Given the description of an element on the screen output the (x, y) to click on. 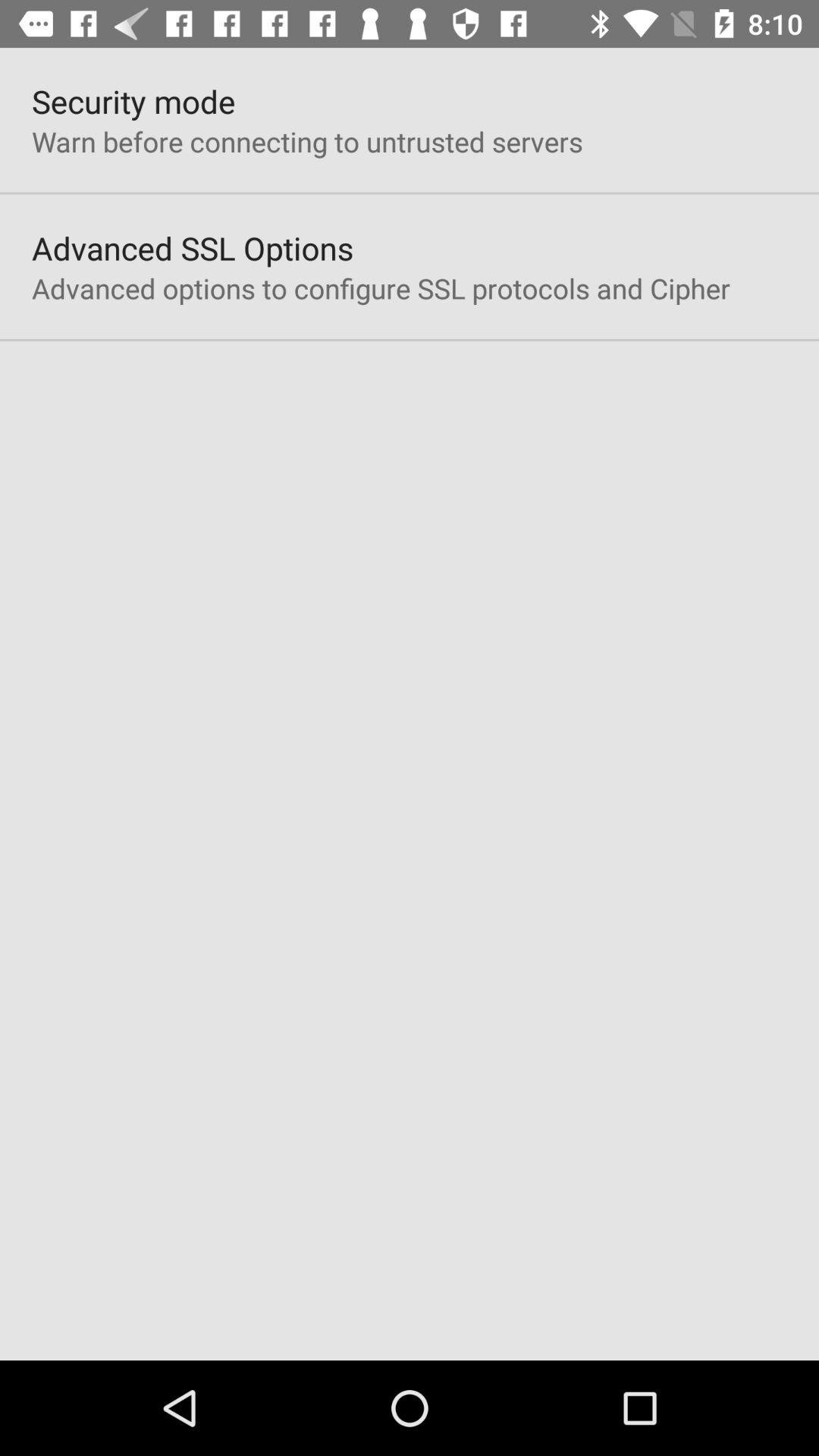
turn on the app above the warn before connecting icon (133, 100)
